Given the description of an element on the screen output the (x, y) to click on. 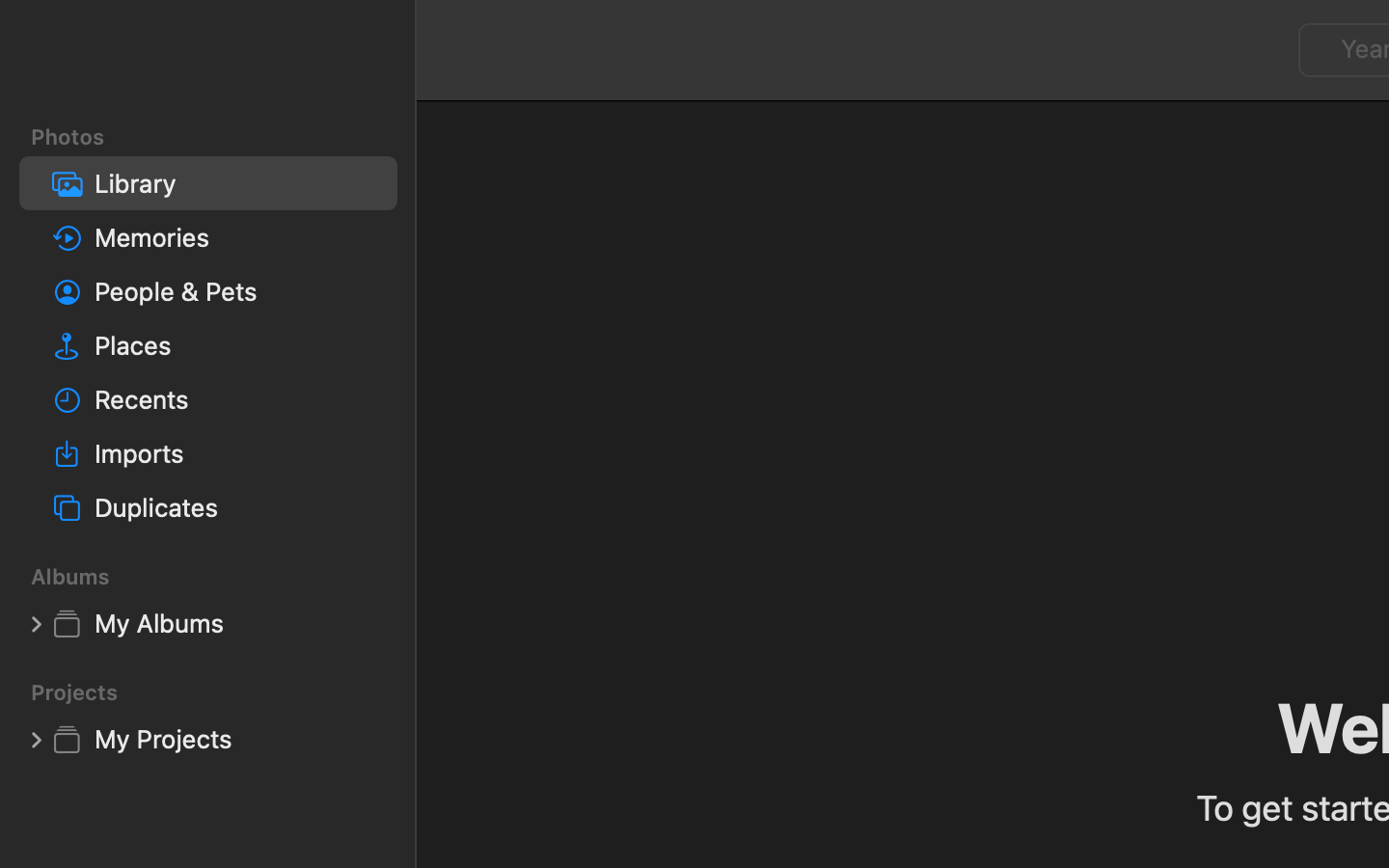
Memories Element type: AXStaticText (237, 236)
Imports Element type: AXStaticText (237, 452)
Photos Element type: AXStaticText (219, 136)
